Given the description of an element on the screen output the (x, y) to click on. 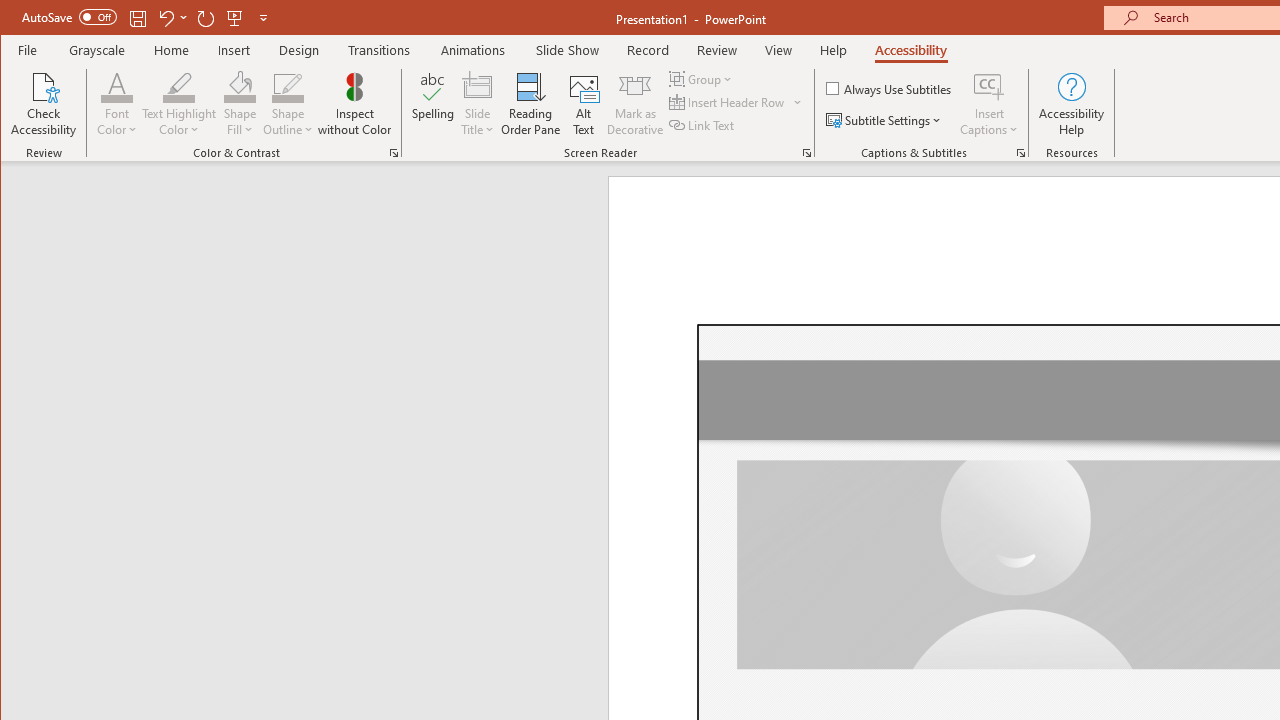
Accessibility Help (1071, 104)
Slide Title (477, 104)
Insert Header Row (735, 101)
Insert Captions (989, 86)
